Given the description of an element on the screen output the (x, y) to click on. 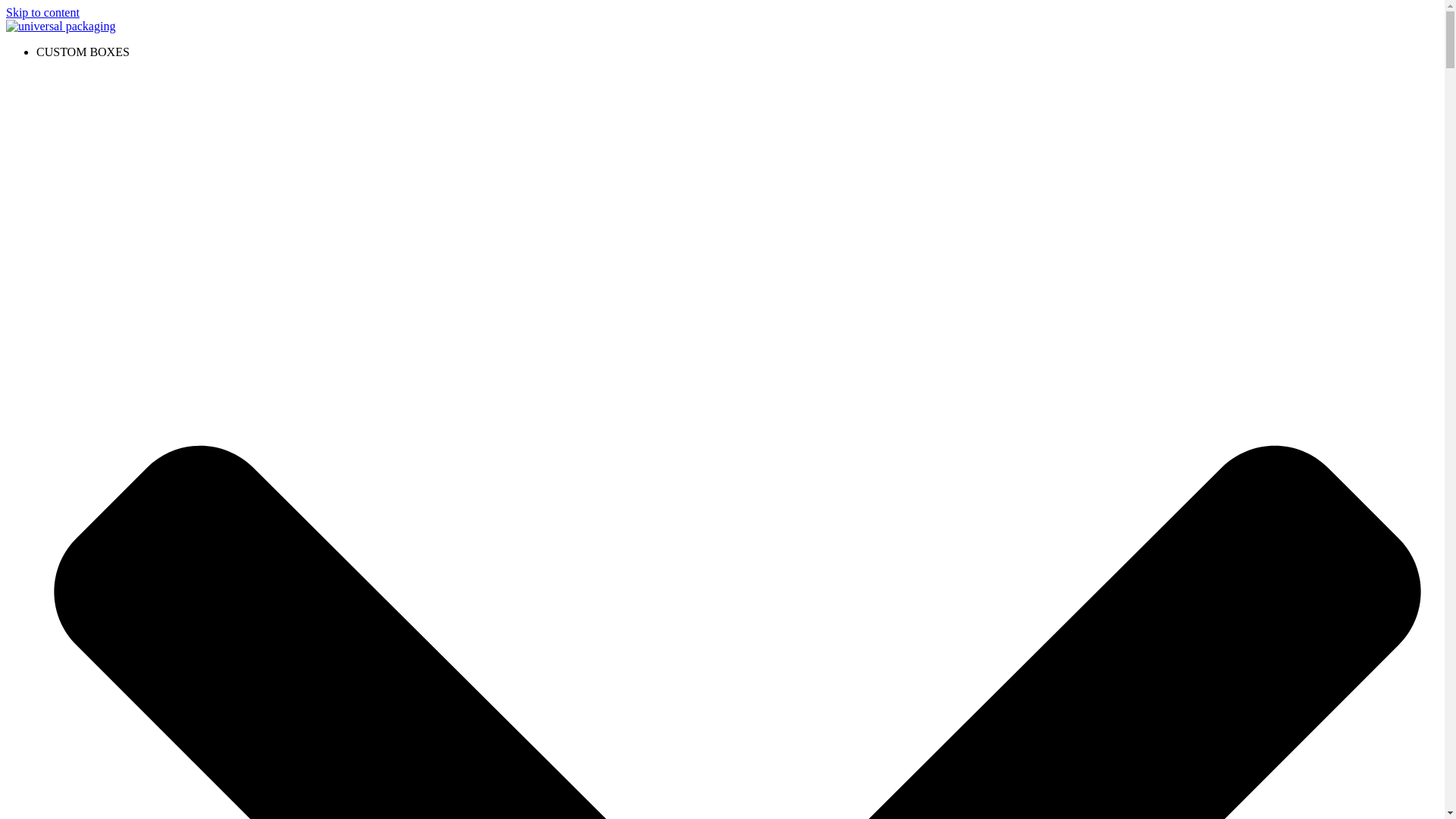
Skip to content (42, 11)
Universal Packaging (60, 25)
